Given the description of an element on the screen output the (x, y) to click on. 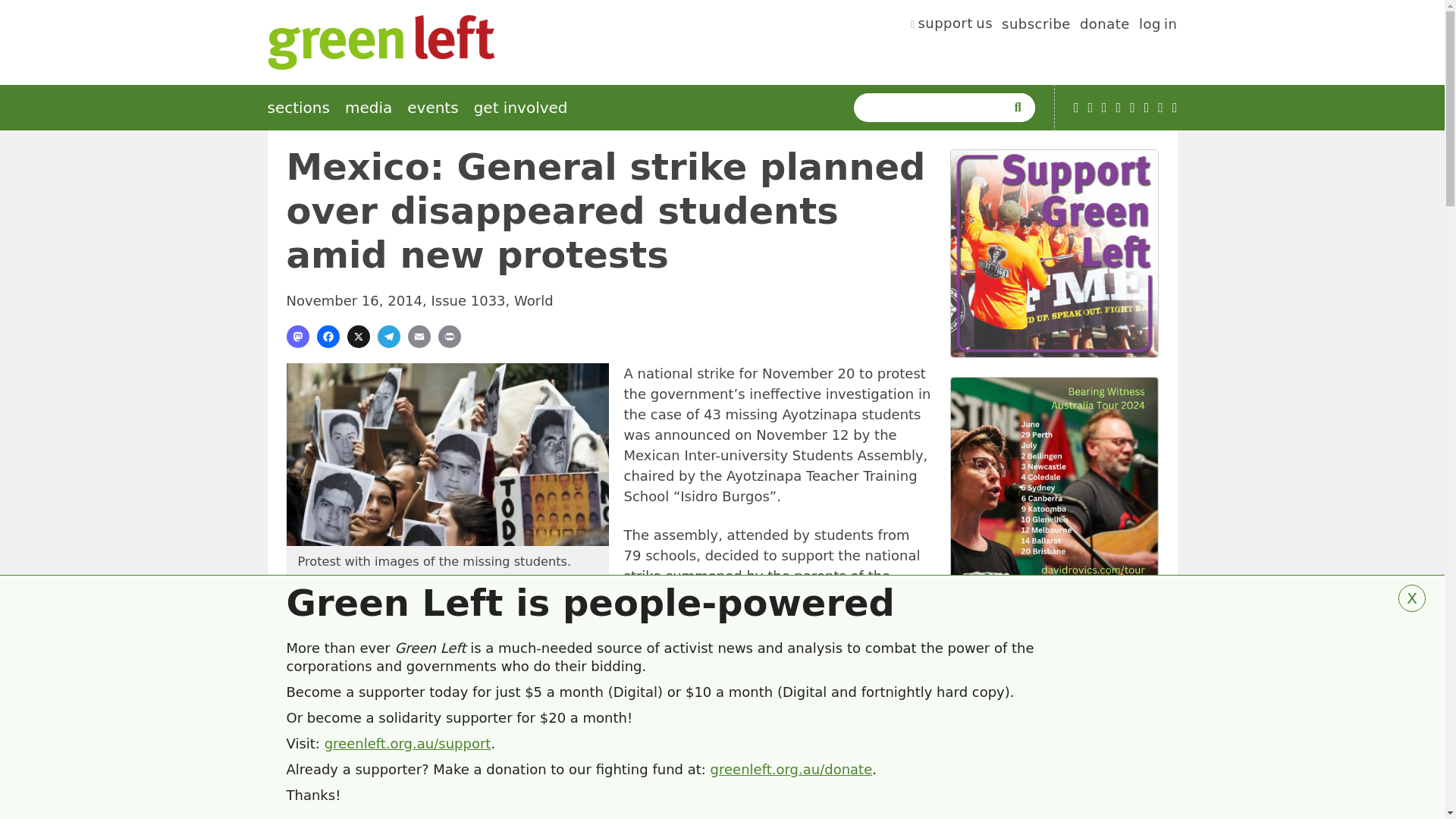
Enter the terms you wish to search for. (932, 107)
Share on Telegram (388, 336)
Share on Mastondon (297, 336)
Print (449, 336)
support us (951, 26)
donate (1104, 26)
subscribe (1035, 26)
share via email (418, 336)
events (432, 107)
Share on X (358, 336)
log in (1157, 26)
Share on Facebook (328, 336)
